Given the description of an element on the screen output the (x, y) to click on. 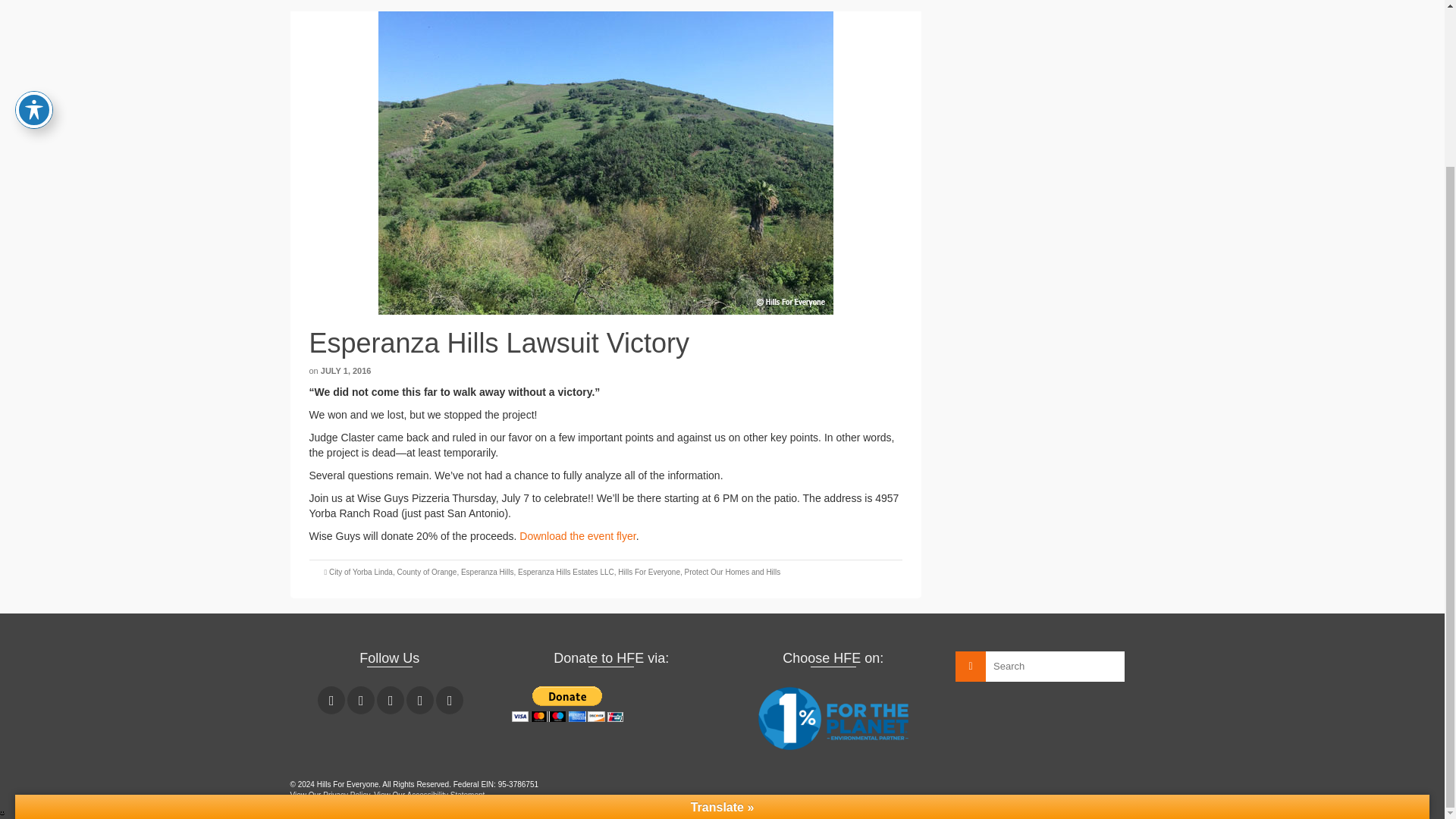
PayPal - The safer, easier way to pay online! (567, 703)
